Given the description of an element on the screen output the (x, y) to click on. 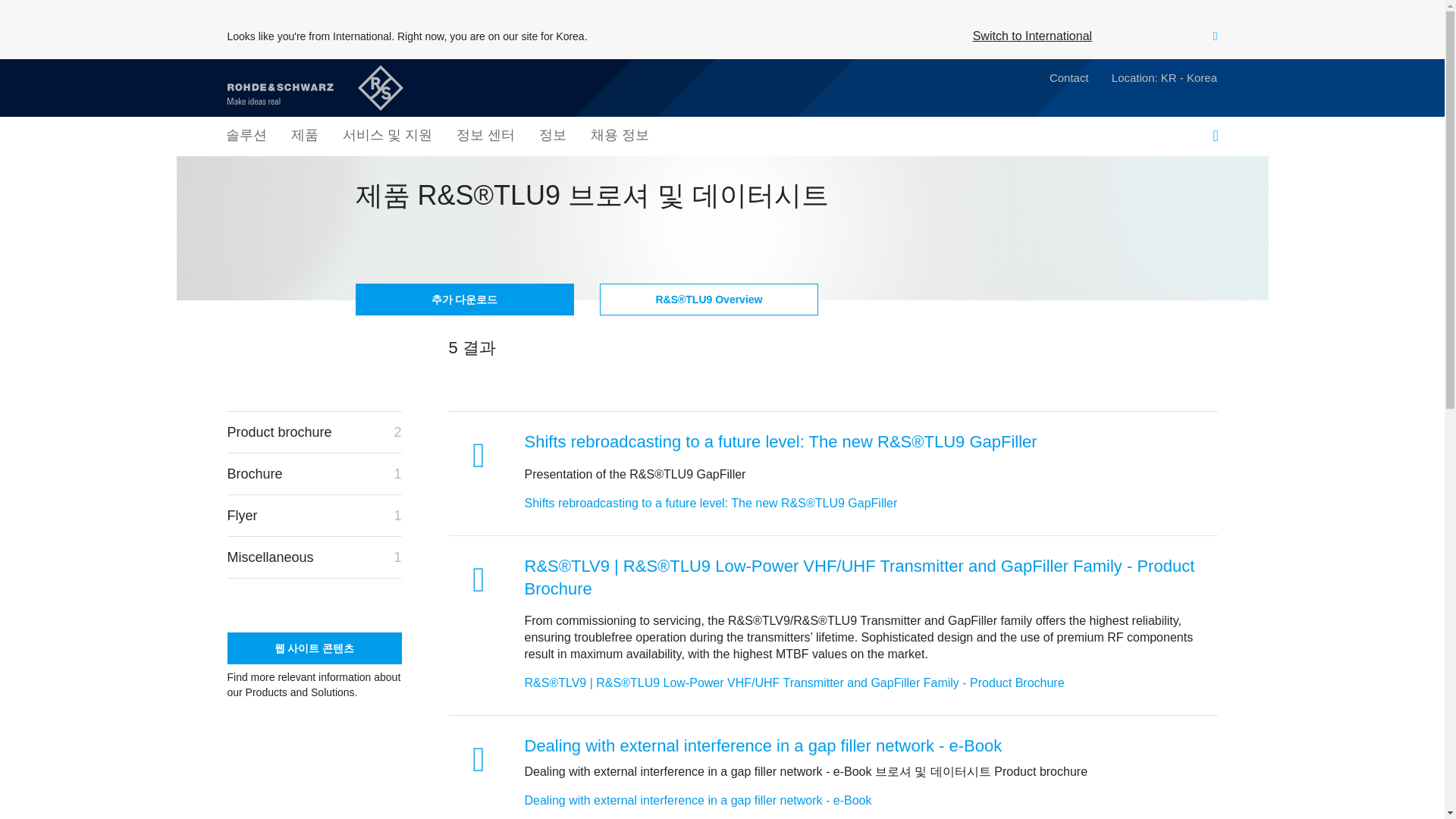
Customer portal (1180, 135)
Switch to International (1032, 36)
Contact (1069, 79)
